Given the description of an element on the screen output the (x, y) to click on. 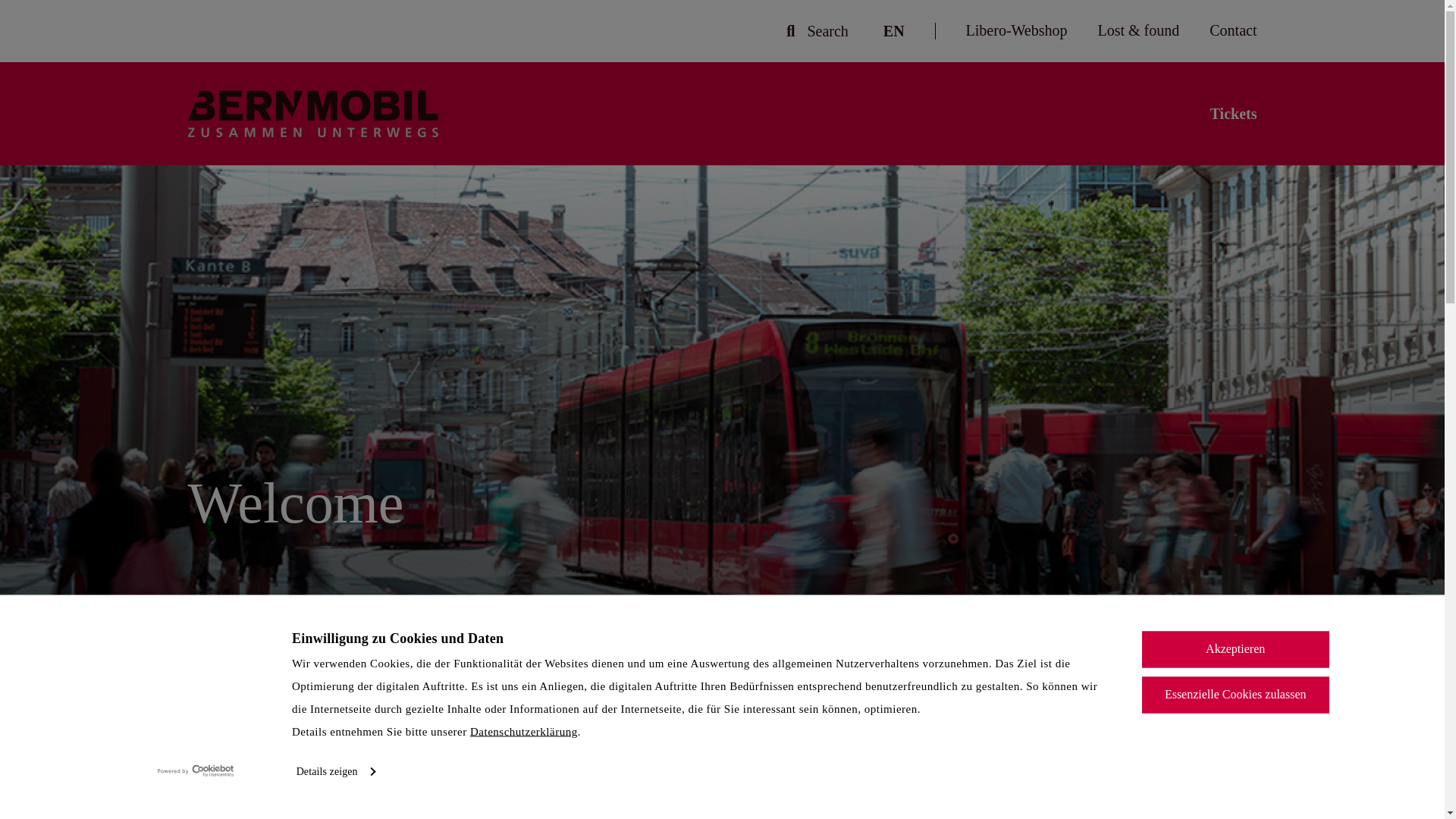
Startseite (312, 112)
Details zeigen (335, 771)
Startseite (312, 113)
Akzeptieren (1235, 648)
Skip to main content (721, 1)
Search (826, 30)
Essenzielle Cookies zulassen (1235, 694)
